Given the description of an element on the screen output the (x, y) to click on. 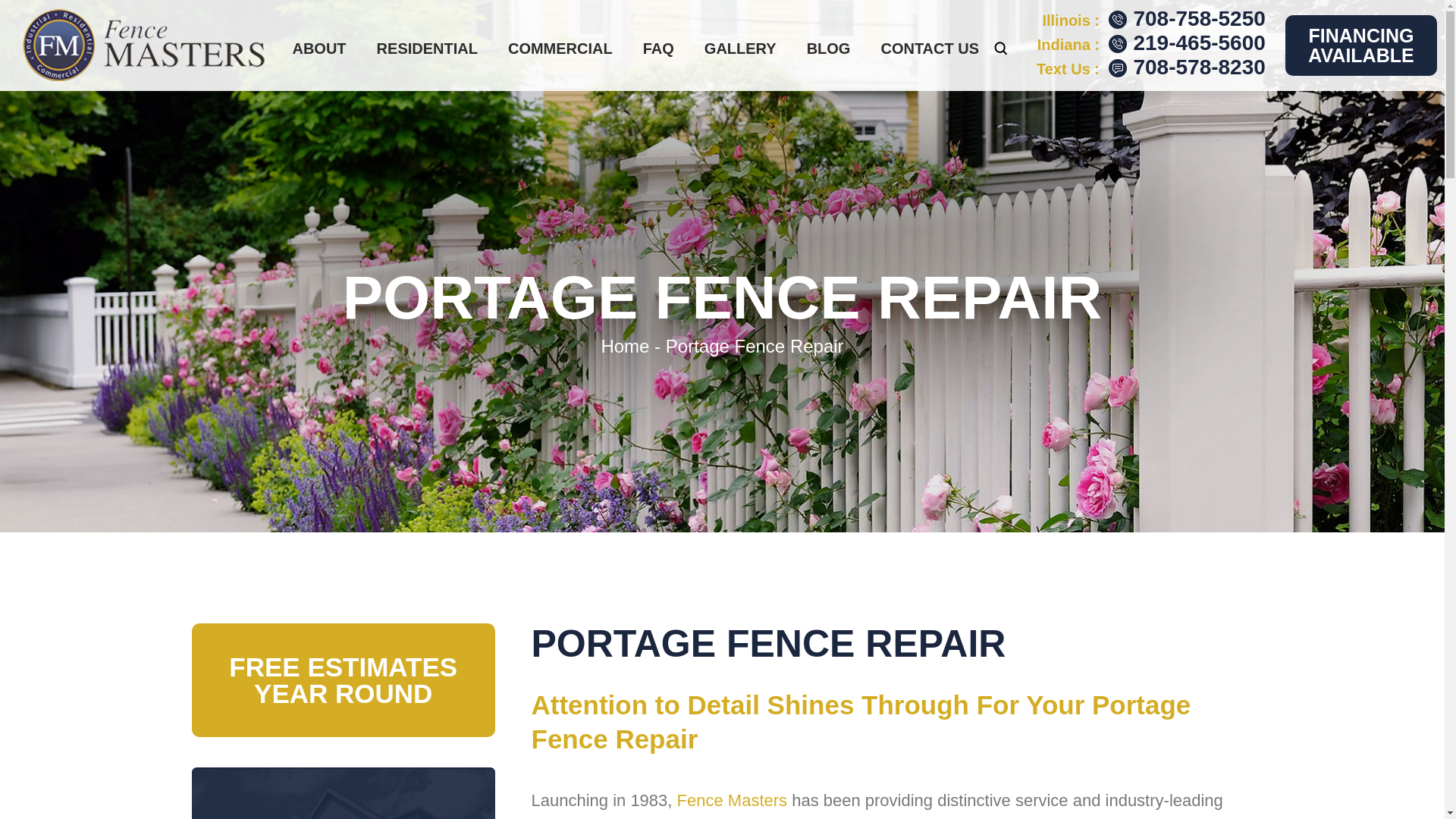
Go to Fence Masters. (624, 345)
RESIDENTIAL (427, 47)
COMMERCIAL (560, 47)
FAQ (658, 47)
GALLERY (740, 47)
ABOUT (319, 47)
BLOG (828, 47)
